Given the description of an element on the screen output the (x, y) to click on. 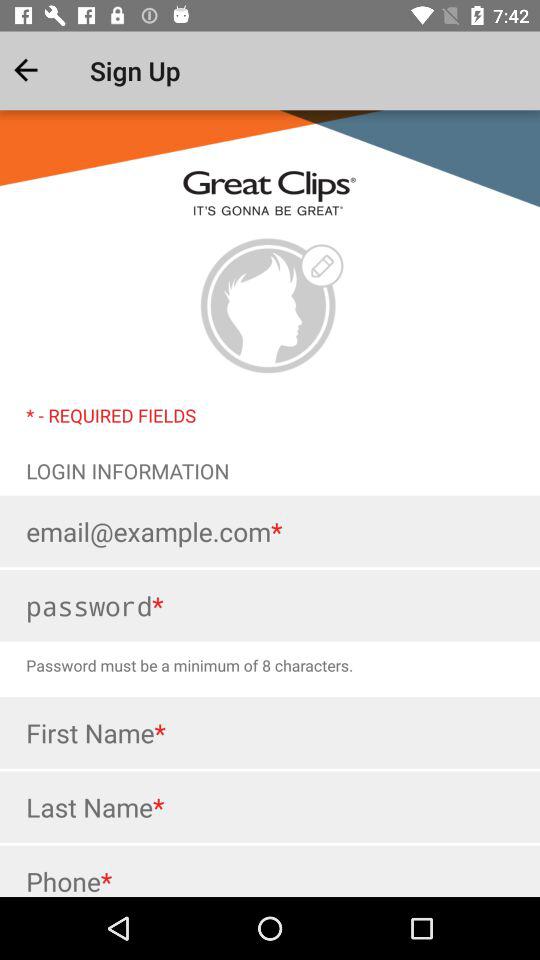
choose the item next to the sign up app (42, 70)
